Given the description of an element on the screen output the (x, y) to click on. 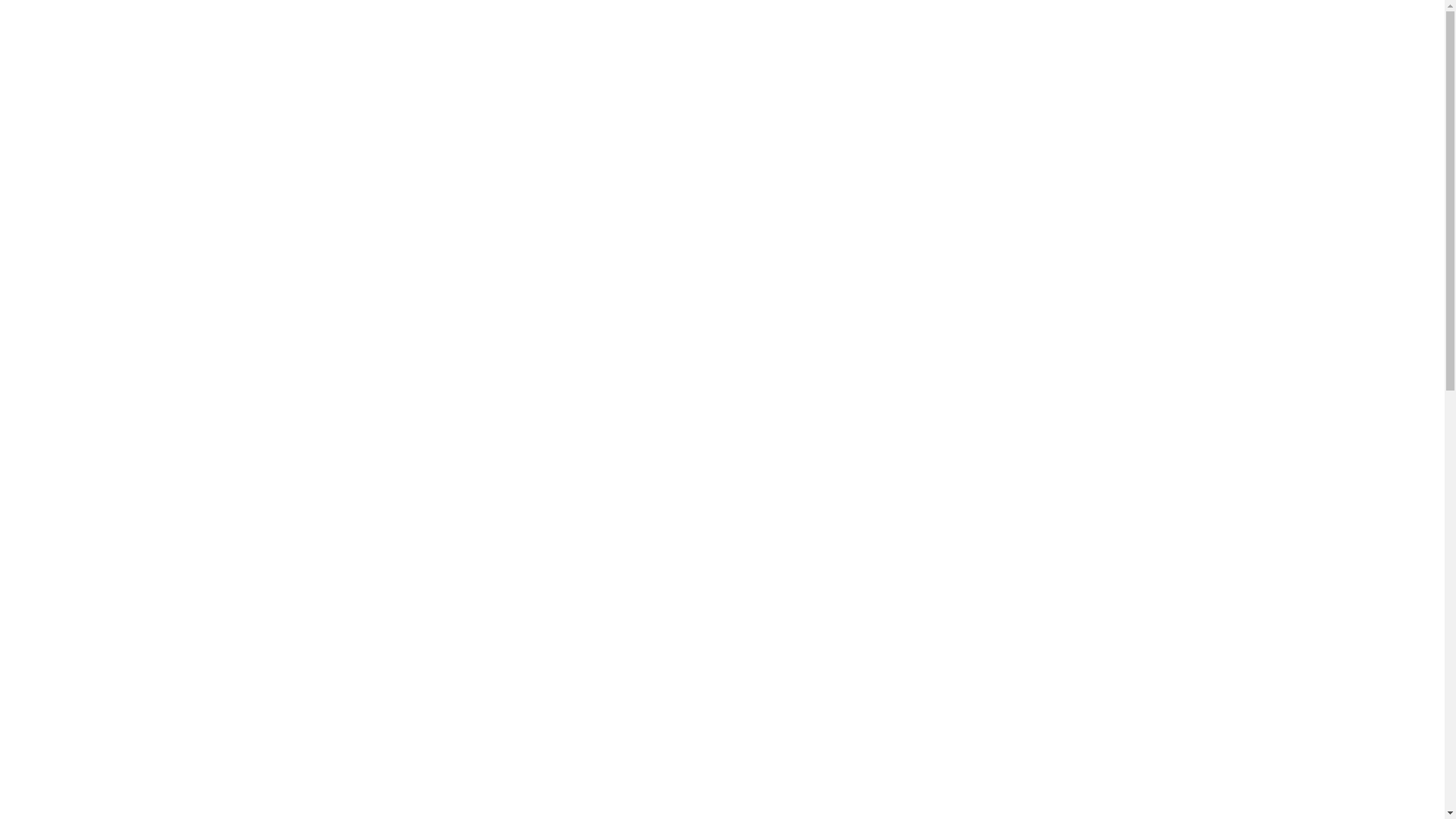
CONTACT Element type: text (639, 142)
EN Element type: text (1383, 142)
DE Element type: text (1357, 142)
+41 61 260 25 30 Element type: text (1360, 31)
BC IT AG Element type: hover (102, 57)
B-CLOUD Element type: text (718, 142)
ACCUEIL Element type: text (56, 142)
info@bc-it.ch Element type: text (1366, 70)
